Given the description of an element on the screen output the (x, y) to click on. 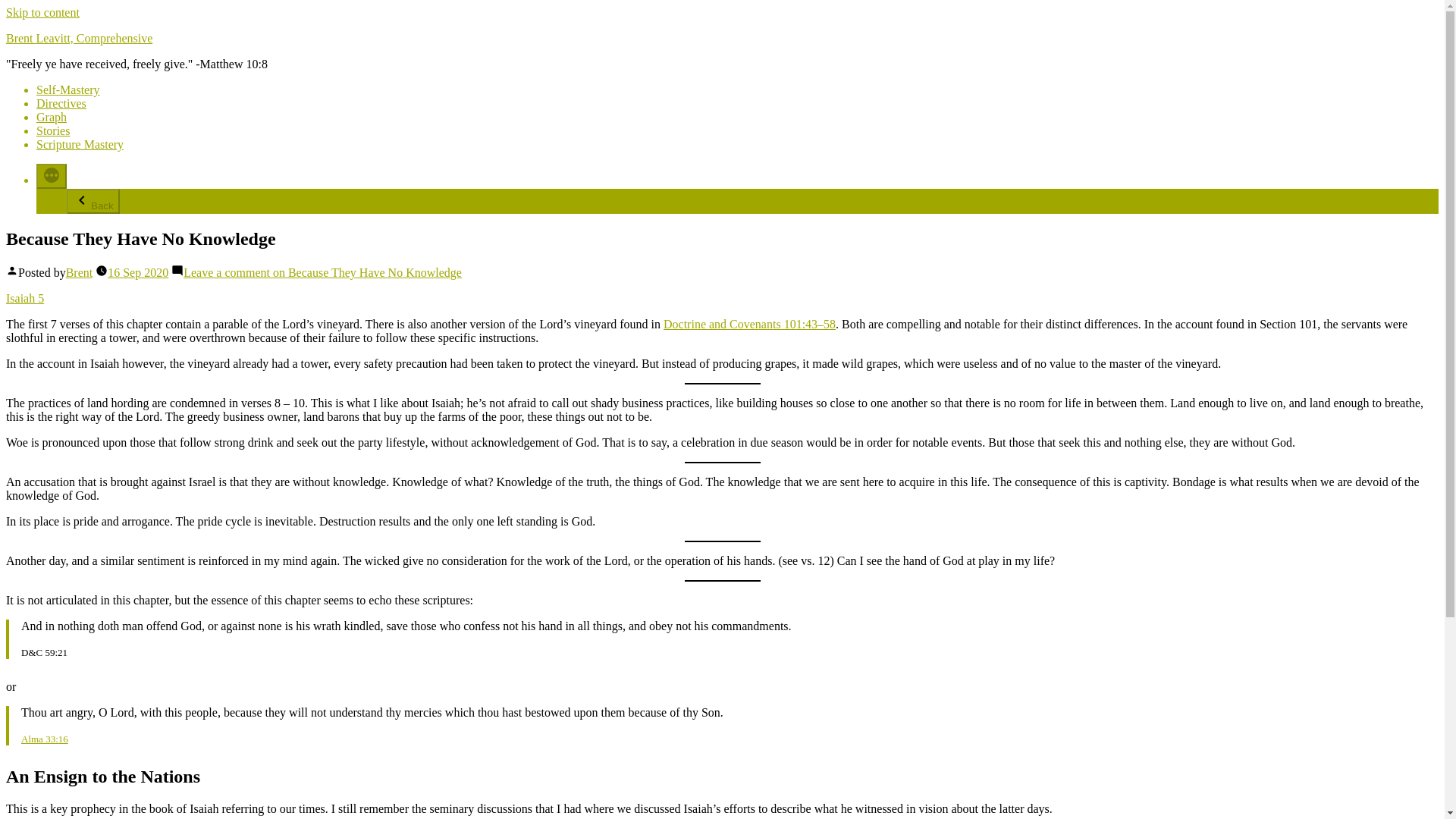
Brent Leavitt, Comprehensive (78, 38)
Back (92, 201)
Scripture Mastery (79, 144)
Isaiah 5 (24, 297)
Skip to content (42, 11)
Directives (60, 103)
Brent (79, 272)
Graph (51, 116)
Self-Mastery (68, 89)
Alma 33:16 (44, 738)
16 Sep 2020 (137, 272)
Leave a comment on Because They Have No Knowledge (322, 272)
Stories (52, 130)
